Given the description of an element on the screen output the (x, y) to click on. 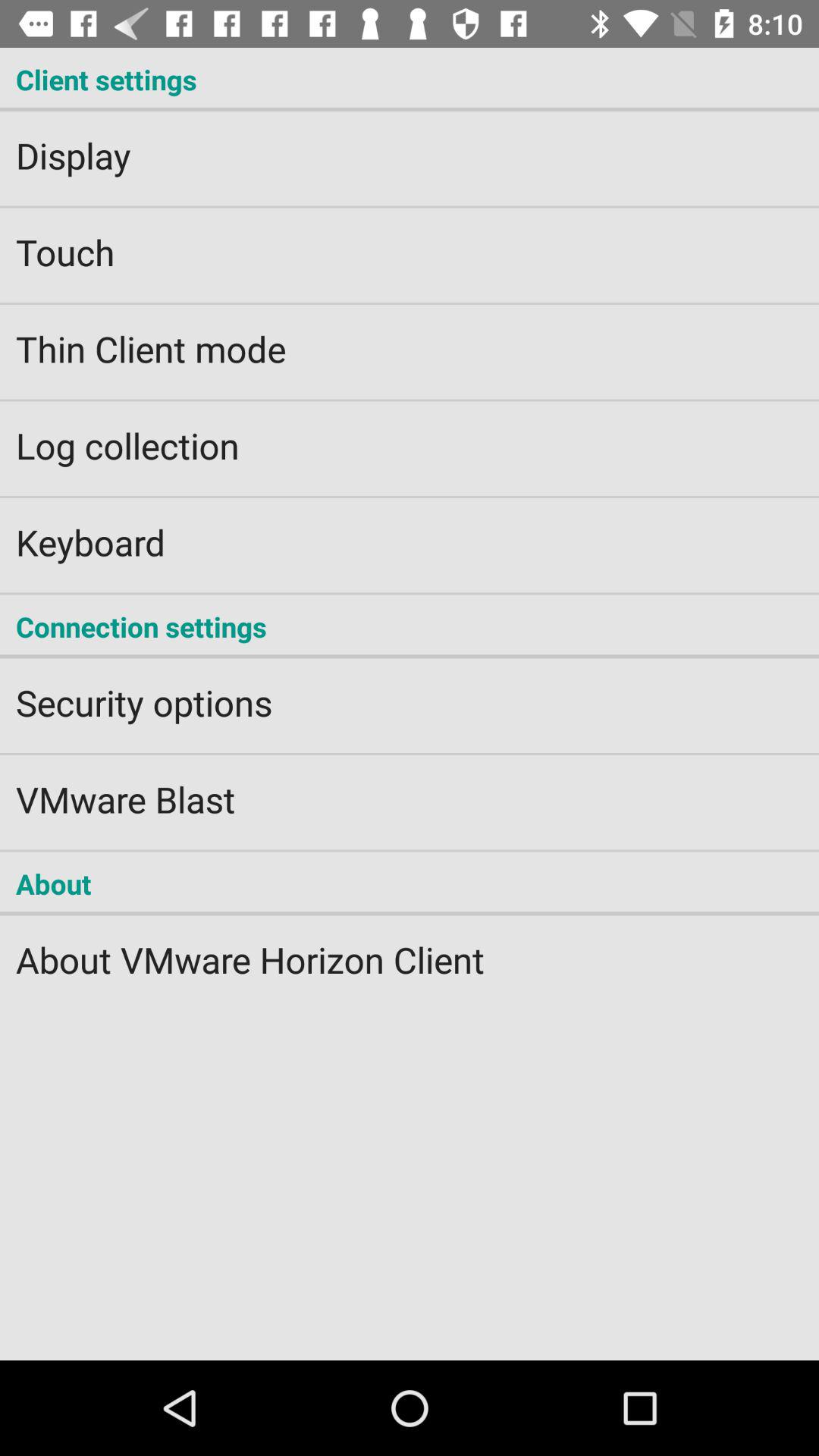
jump until the about vmware horizon icon (409, 949)
